Given the description of an element on the screen output the (x, y) to click on. 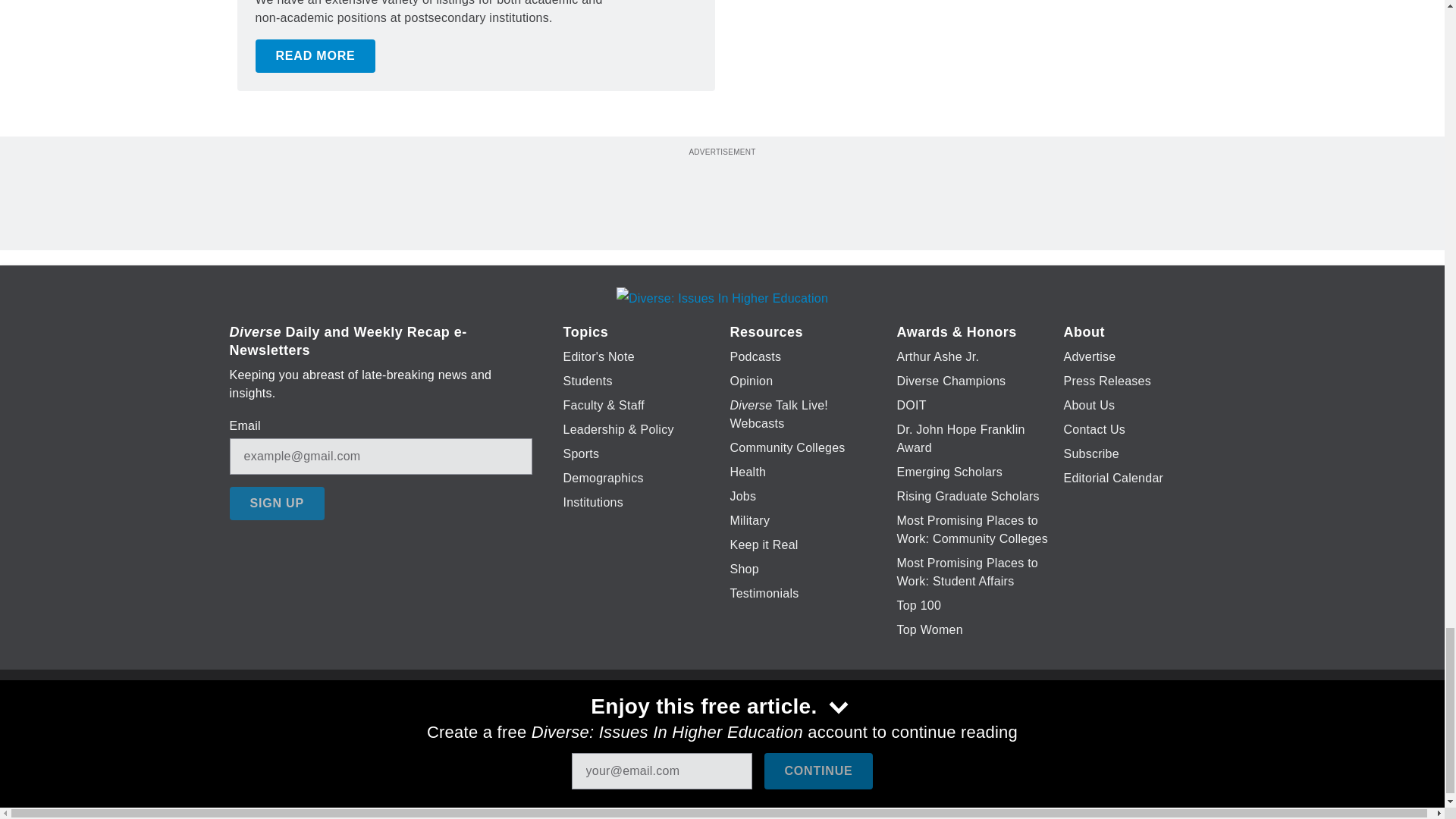
Twitter X icon (674, 727)
Instagram icon (796, 727)
YouTube icon (757, 727)
LinkedIn icon (718, 727)
Facebook icon (635, 727)
